Given the description of an element on the screen output the (x, y) to click on. 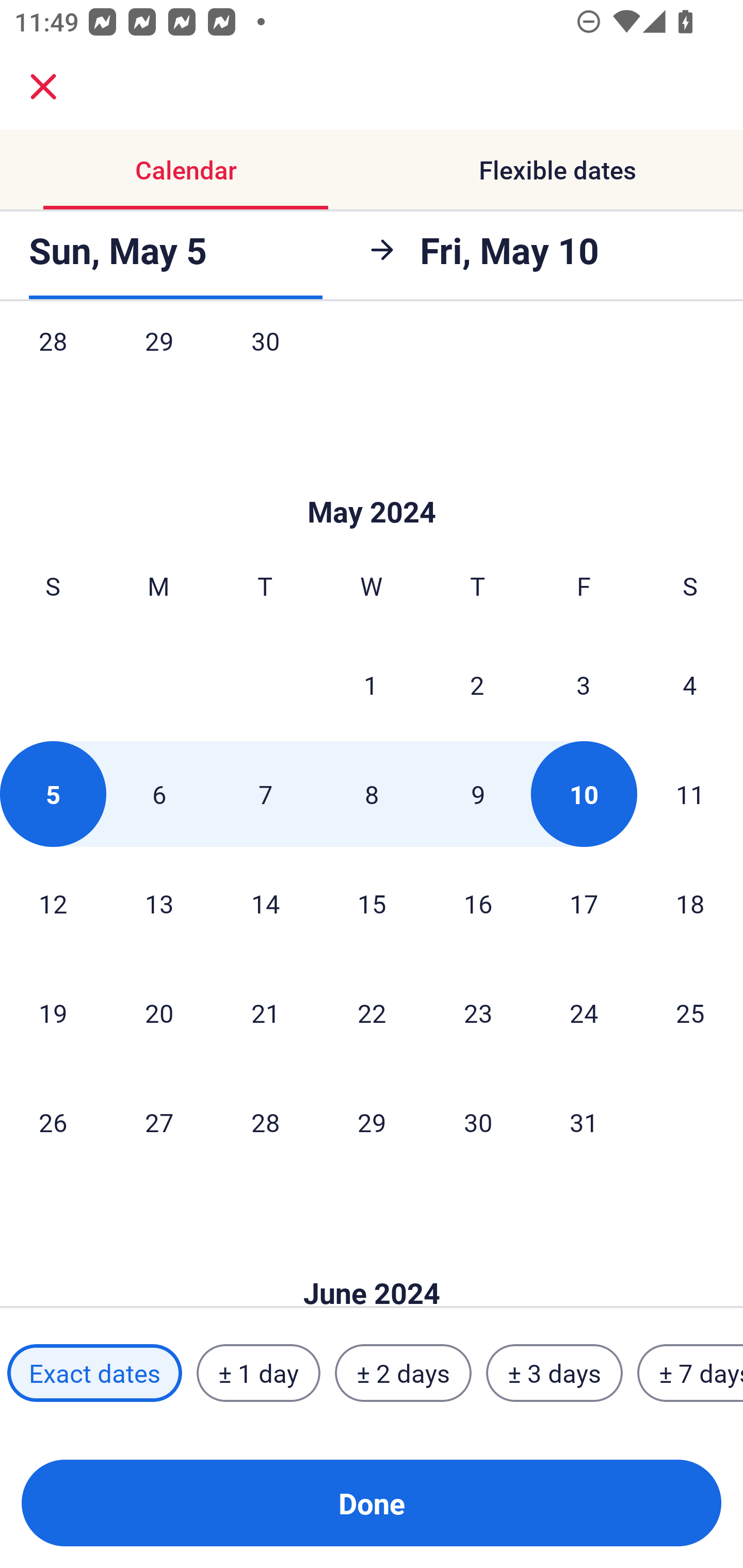
close. (43, 86)
Flexible dates (557, 170)
28 Sunday, April 28, 2024 (53, 361)
29 Monday, April 29, 2024 (159, 361)
30 Tuesday, April 30, 2024 (265, 361)
Skip to Done (371, 481)
1 Wednesday, May 1, 2024 (371, 683)
2 Thursday, May 2, 2024 (477, 683)
3 Friday, May 3, 2024 (583, 683)
4 Saturday, May 4, 2024 (689, 683)
11 Saturday, May 11, 2024 (690, 793)
12 Sunday, May 12, 2024 (53, 902)
13 Monday, May 13, 2024 (159, 902)
14 Tuesday, May 14, 2024 (265, 902)
15 Wednesday, May 15, 2024 (371, 902)
16 Thursday, May 16, 2024 (477, 902)
17 Friday, May 17, 2024 (584, 902)
18 Saturday, May 18, 2024 (690, 902)
19 Sunday, May 19, 2024 (53, 1012)
20 Monday, May 20, 2024 (159, 1012)
21 Tuesday, May 21, 2024 (265, 1012)
22 Wednesday, May 22, 2024 (371, 1012)
23 Thursday, May 23, 2024 (477, 1012)
24 Friday, May 24, 2024 (584, 1012)
25 Saturday, May 25, 2024 (690, 1012)
26 Sunday, May 26, 2024 (53, 1121)
27 Monday, May 27, 2024 (159, 1121)
28 Tuesday, May 28, 2024 (265, 1121)
29 Wednesday, May 29, 2024 (371, 1121)
30 Thursday, May 30, 2024 (477, 1121)
31 Friday, May 31, 2024 (584, 1121)
Skip to Done (371, 1262)
Exact dates (94, 1372)
± 1 day (258, 1372)
± 2 days (403, 1372)
± 3 days (553, 1372)
± 7 days (690, 1372)
Done (371, 1502)
